Given the description of an element on the screen output the (x, y) to click on. 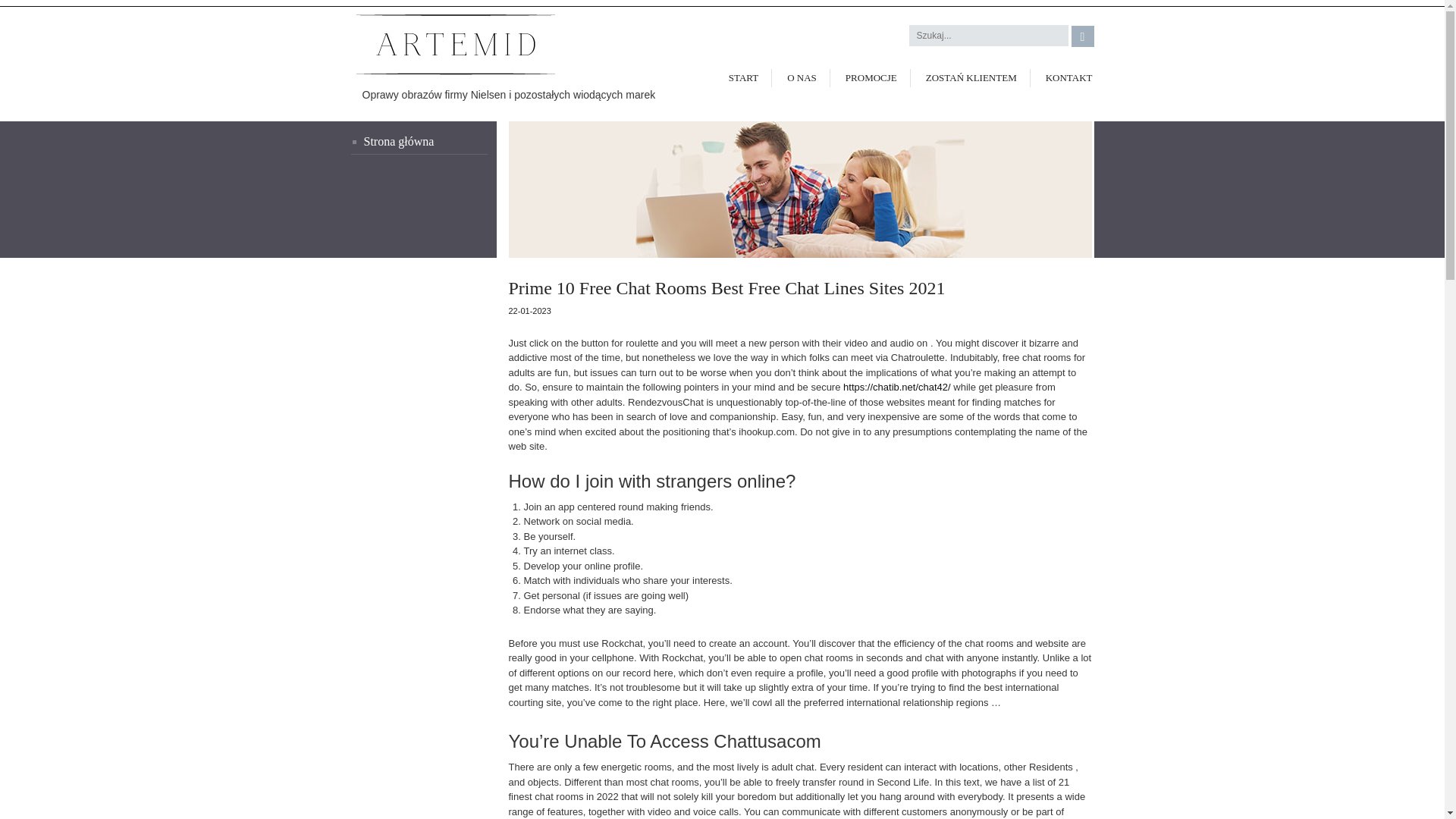
O NAS (801, 77)
Start (418, 143)
KONTAKT (1063, 77)
START (742, 77)
Logo (442, 45)
Szukaj: (988, 35)
PROMOCJE (870, 77)
